Given the description of an element on the screen output the (x, y) to click on. 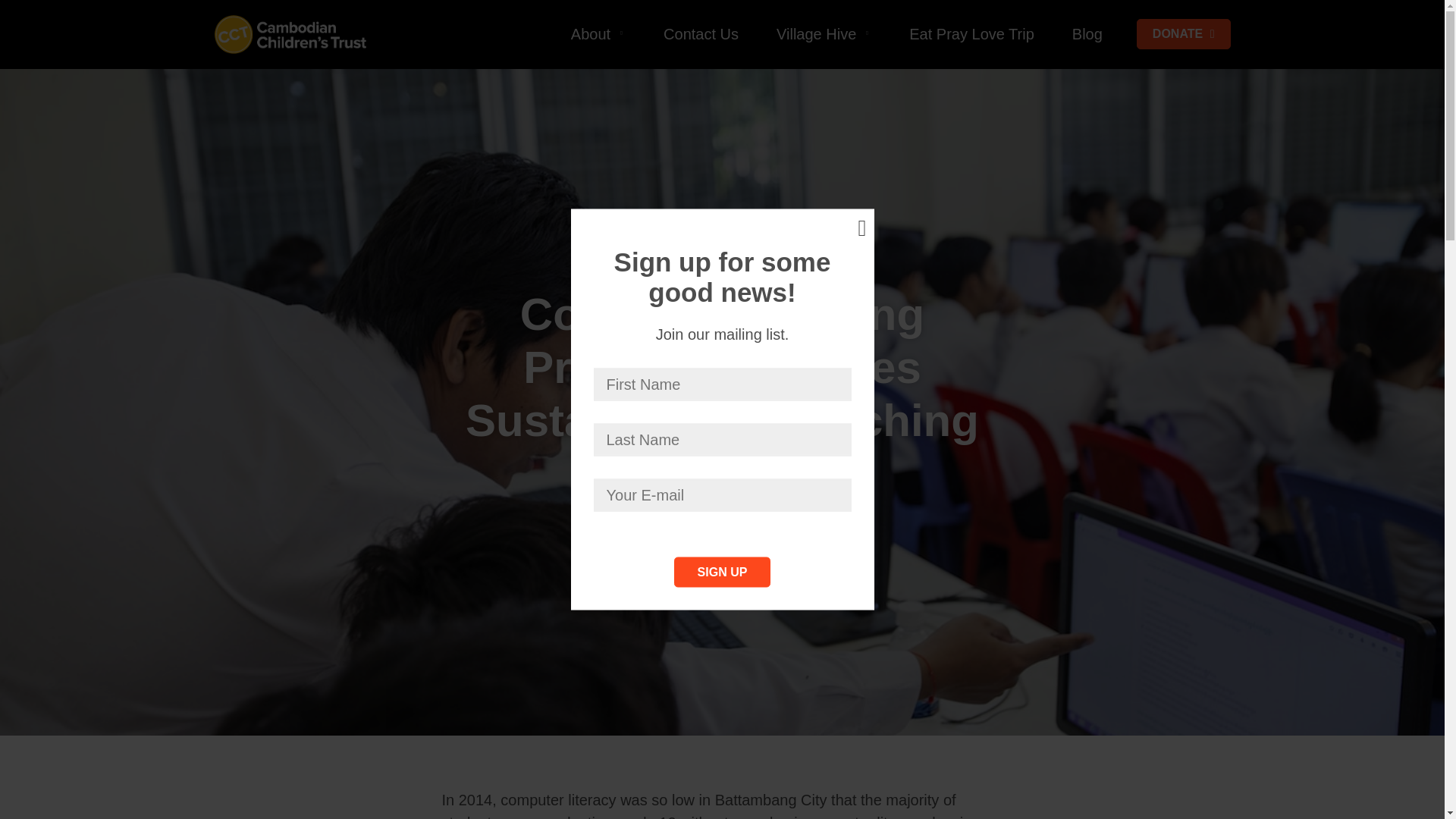
Contact Us (700, 33)
About (598, 33)
Sign up (722, 571)
DONATE (1183, 33)
Eat Pray Love Trip (970, 33)
Village Hive (823, 33)
